Given the description of an element on the screen output the (x, y) to click on. 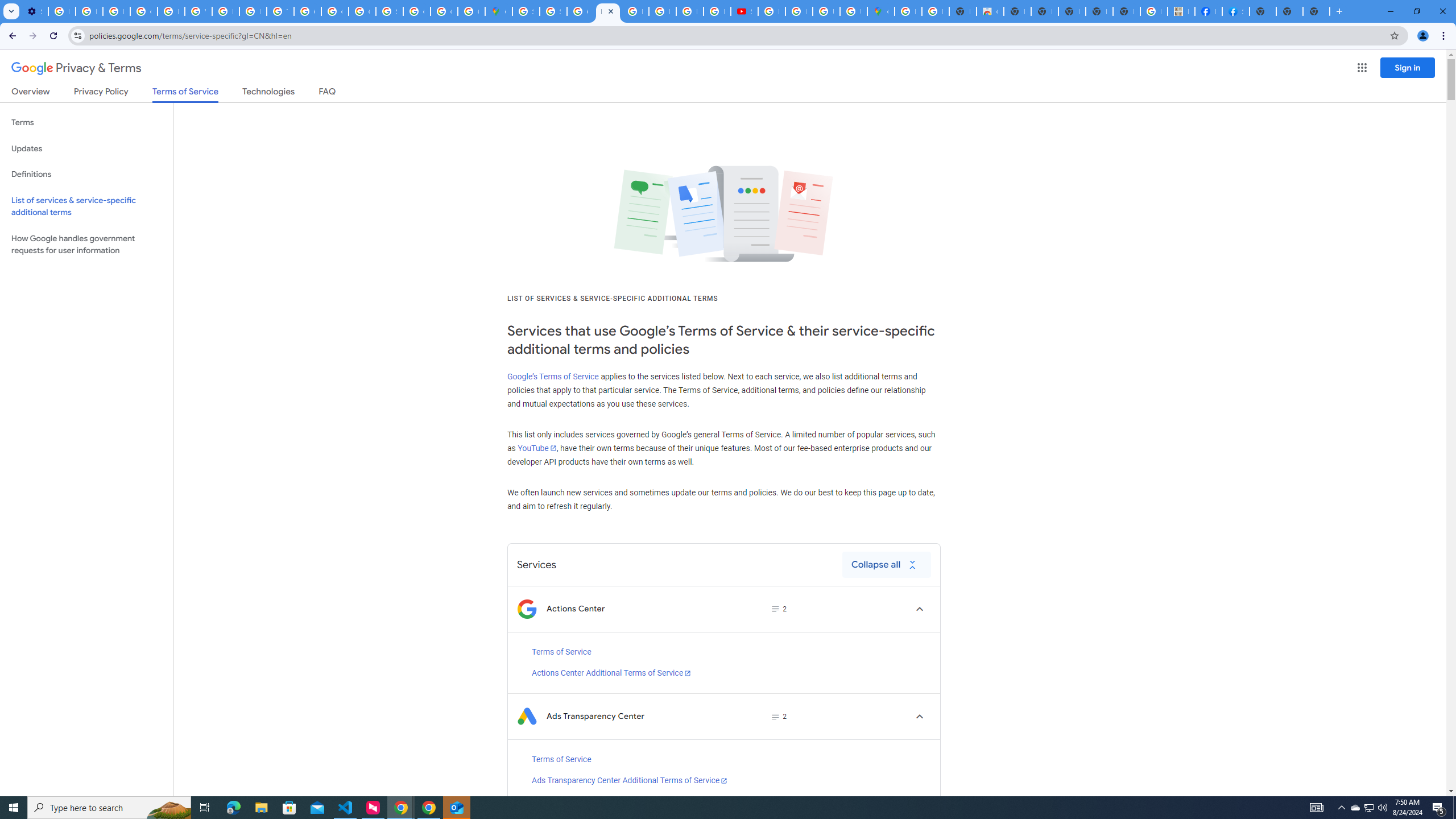
How Google handles government requests for user information (86, 244)
Subscriptions - YouTube (743, 11)
Definitions (86, 174)
Logo for Actions Center (526, 608)
